Given the description of an element on the screen output the (x, y) to click on. 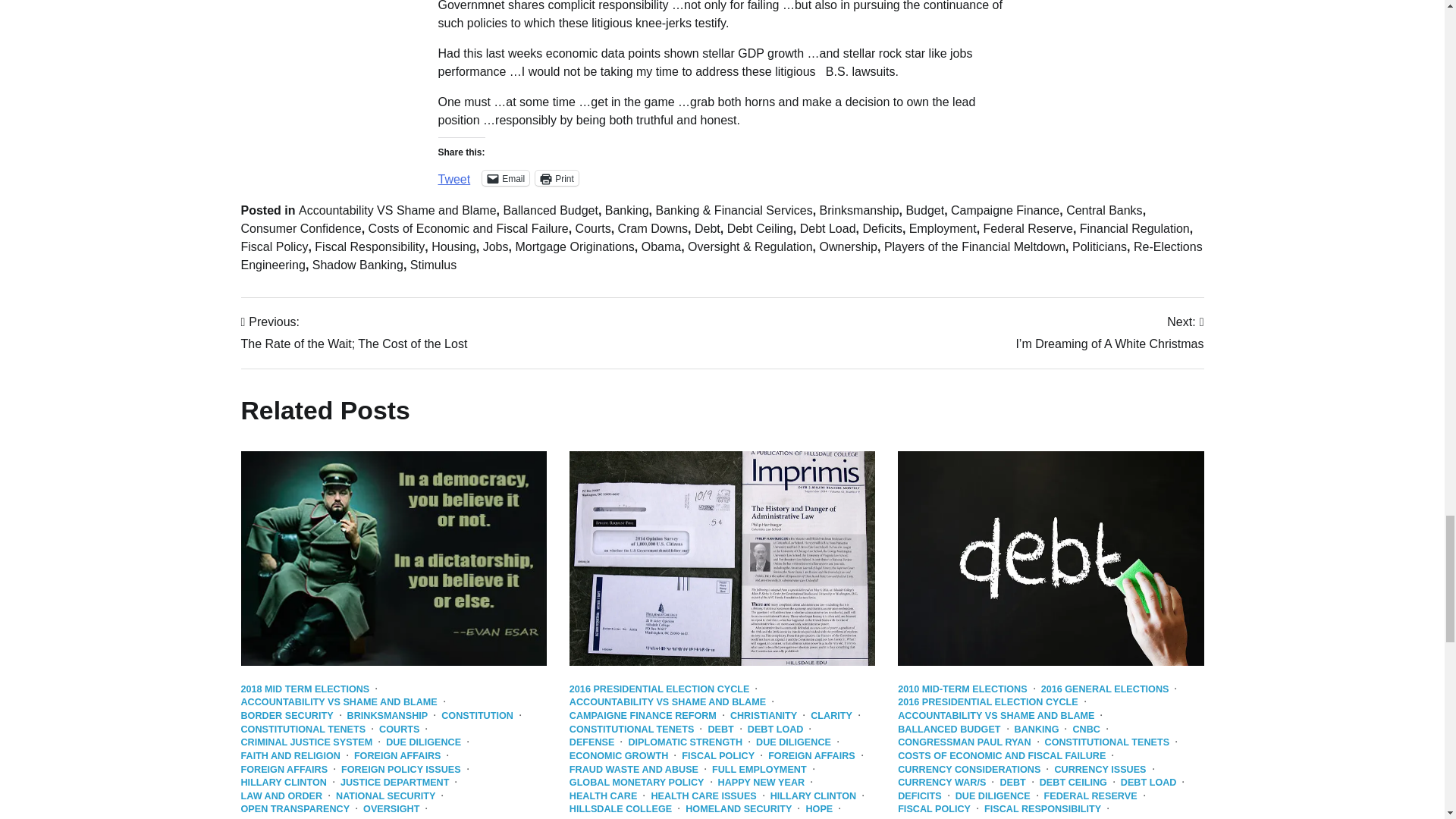
Costs of Economic and Fiscal Failure (468, 228)
Fiscal Policy (274, 246)
Courts (593, 228)
Tweet (454, 173)
Accountability VS Shame and Blame (397, 210)
Housing (453, 246)
Campaigne Finance (1004, 210)
Mortgage Originations (574, 246)
Debt (707, 228)
Cram Downs (652, 228)
